Given the description of an element on the screen output the (x, y) to click on. 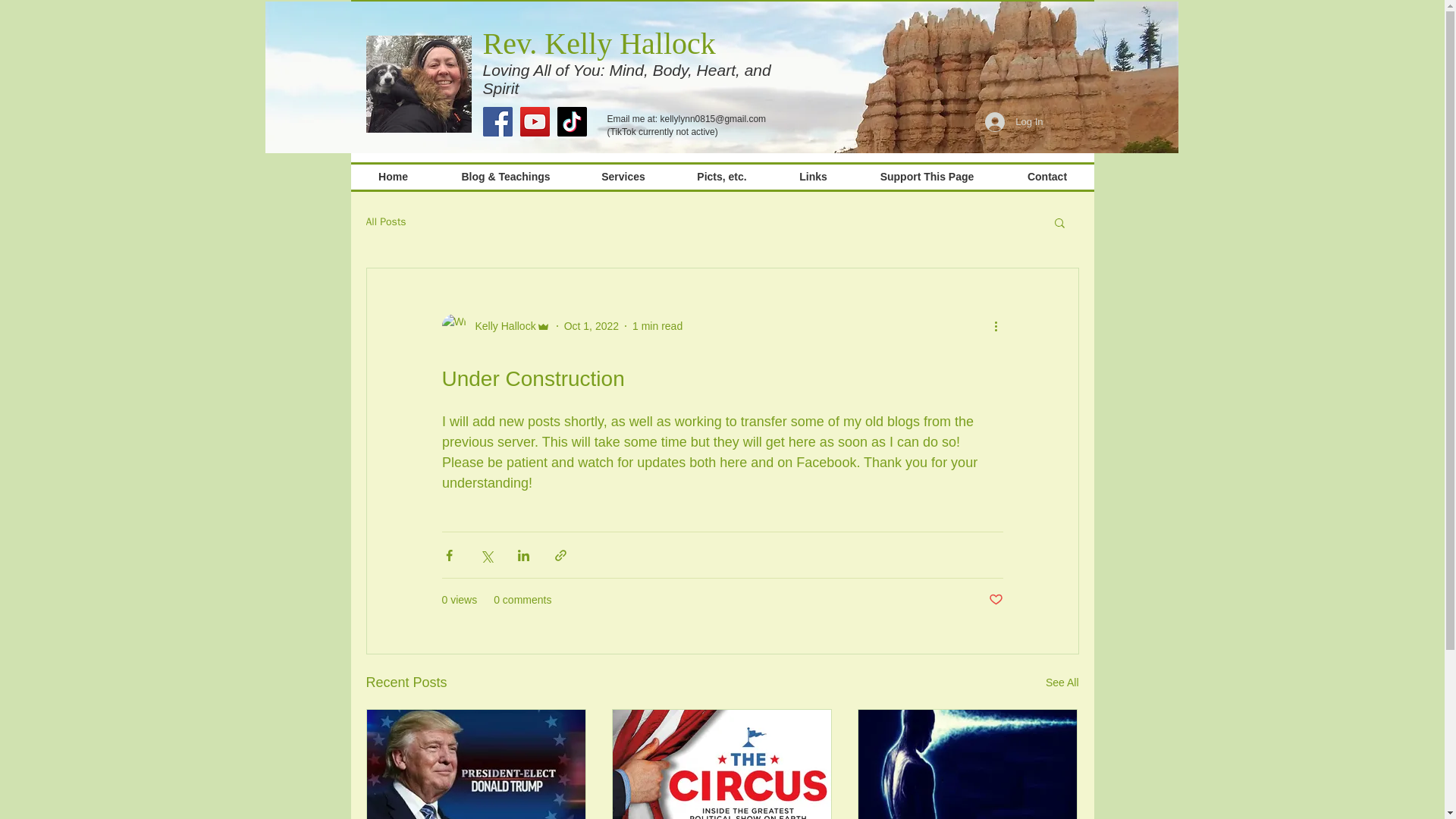
Kelly Hallock (500, 326)
Services (623, 176)
Contact (1047, 176)
Oct 1, 2022 (591, 326)
Picts, etc. (721, 176)
Loving All of You: Mind, Body, Heart, and Spirit (625, 79)
See All (1061, 682)
Log In (1013, 121)
1 min read (656, 326)
Post not marked as liked (995, 600)
